Given the description of an element on the screen output the (x, y) to click on. 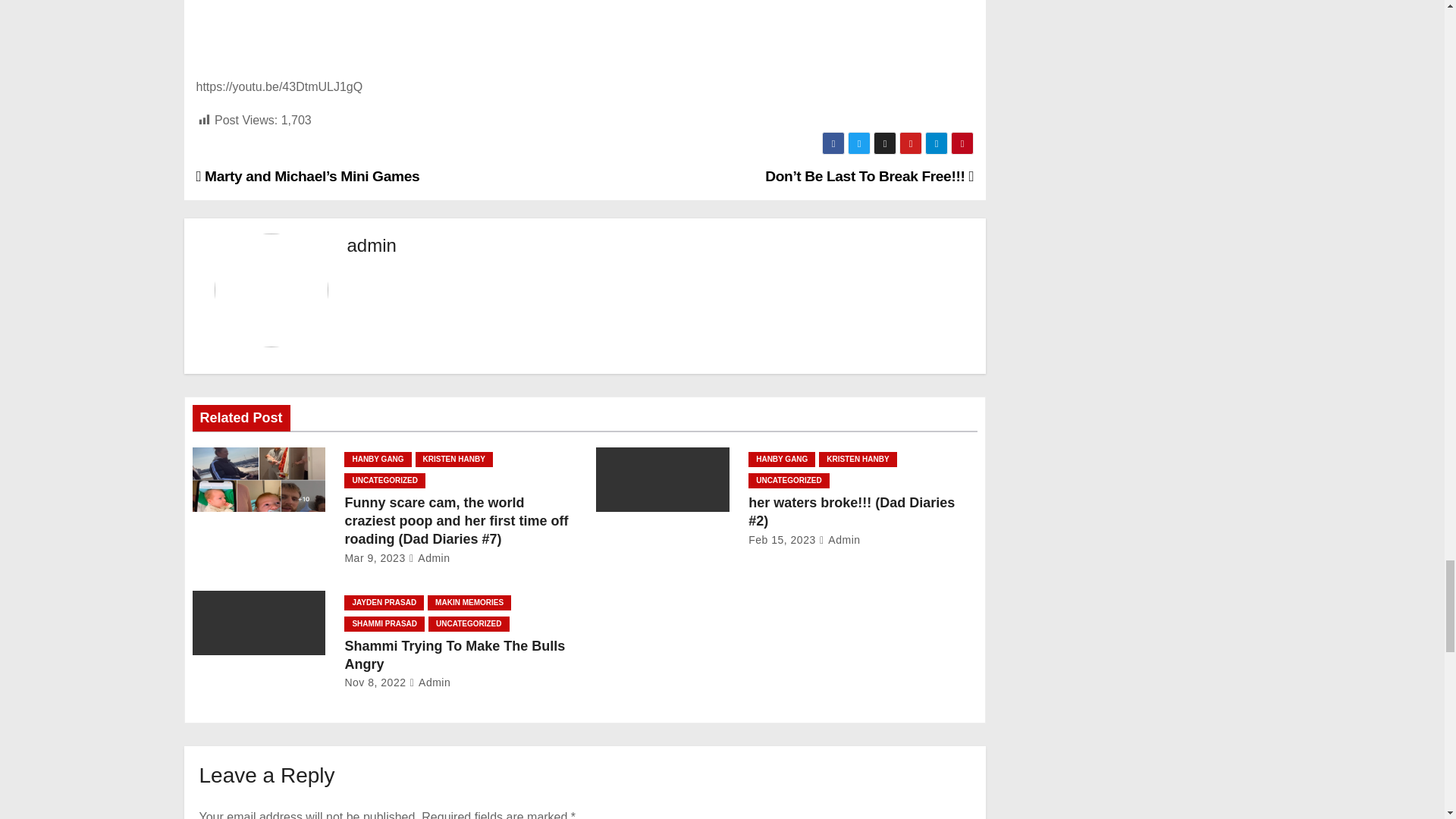
Mar 9, 2023 (373, 558)
admin (371, 245)
Permalink to: Shammi Trying To Make The Bulls Angry (453, 654)
HANBY GANG (376, 459)
UNCATEGORIZED (384, 480)
KRISTEN HANBY (453, 459)
HANBY GANG (781, 459)
Admin (429, 558)
